Given the description of an element on the screen output the (x, y) to click on. 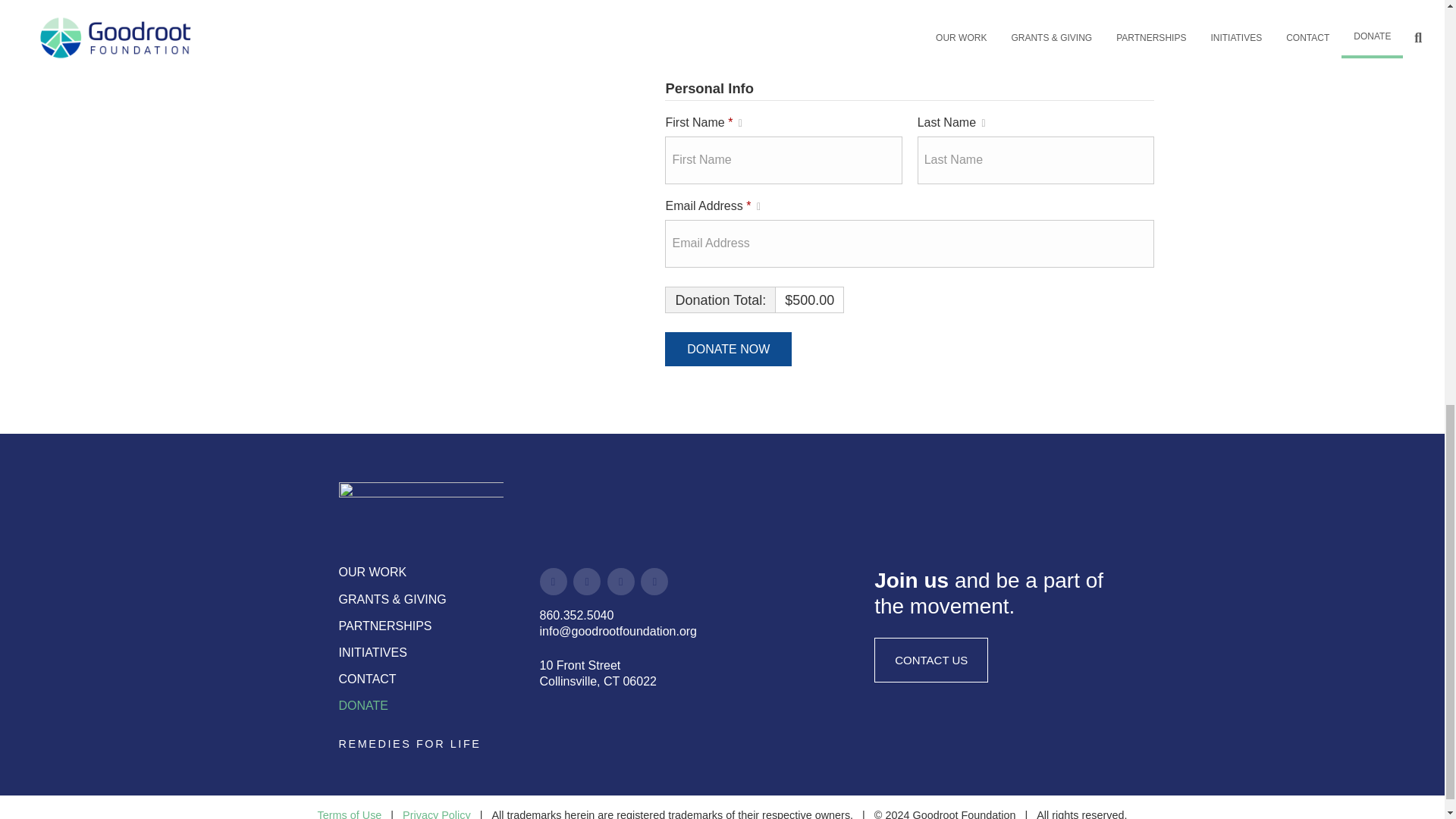
Home (419, 507)
CONTACT US (931, 660)
CONTACT (366, 678)
OUR WORK (371, 571)
Custom Amount (1025, 2)
Privacy Policy (436, 814)
DONATE (362, 705)
Instagram (586, 581)
PARTNERSHIPS (383, 625)
Twitter (620, 581)
Donate Now (728, 349)
INITIATIVES (371, 652)
Donate Now (728, 349)
Terms of Use (349, 814)
Twitter (654, 581)
